Given the description of an element on the screen output the (x, y) to click on. 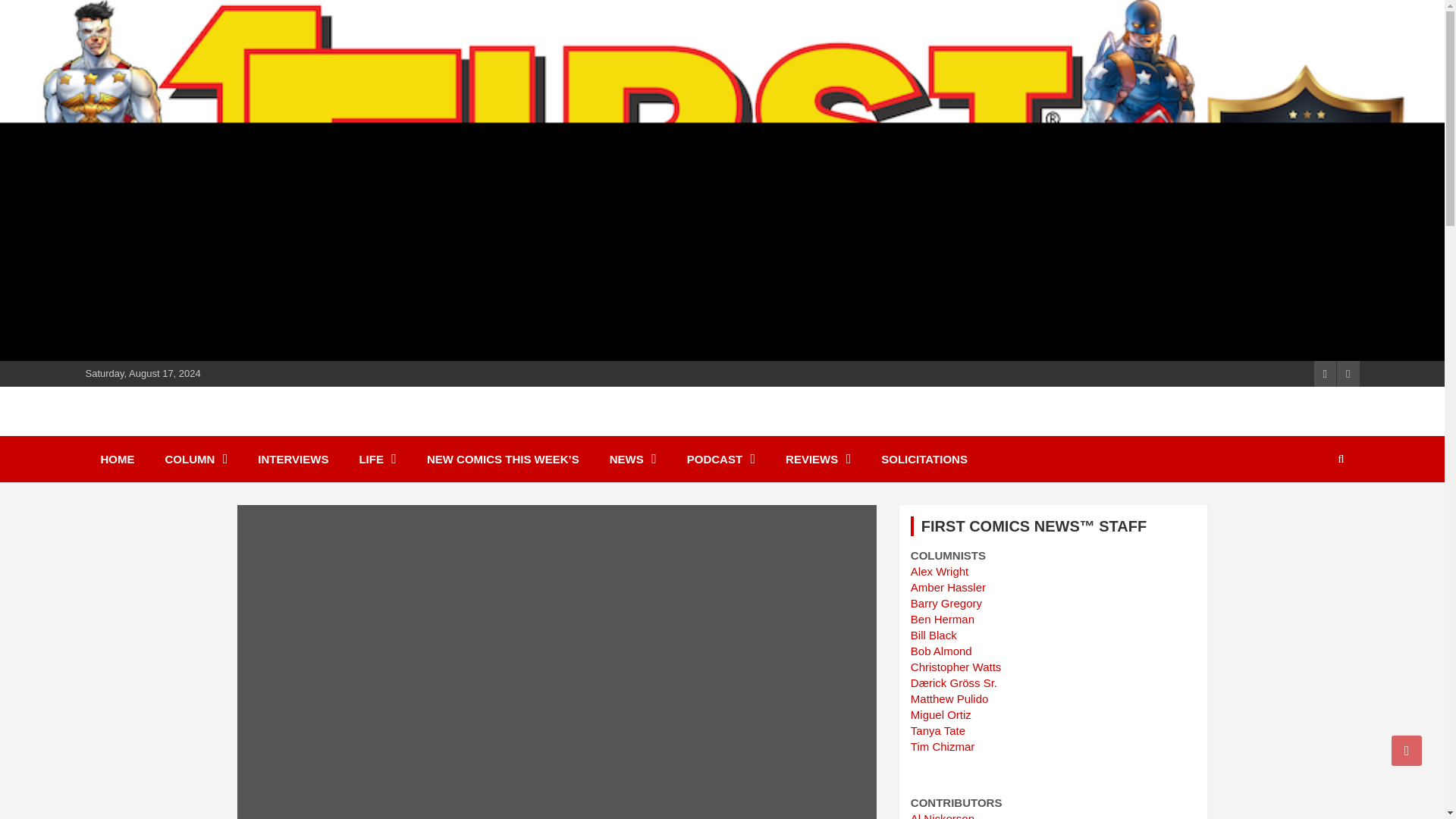
First Comics News (220, 428)
INTERVIEWS (293, 458)
REVIEWS (818, 458)
LIFE (377, 458)
PODCAST (720, 458)
COLUMN (196, 458)
HOME (116, 458)
Go to Top (1406, 750)
NEWS (632, 458)
